Given the description of an element on the screen output the (x, y) to click on. 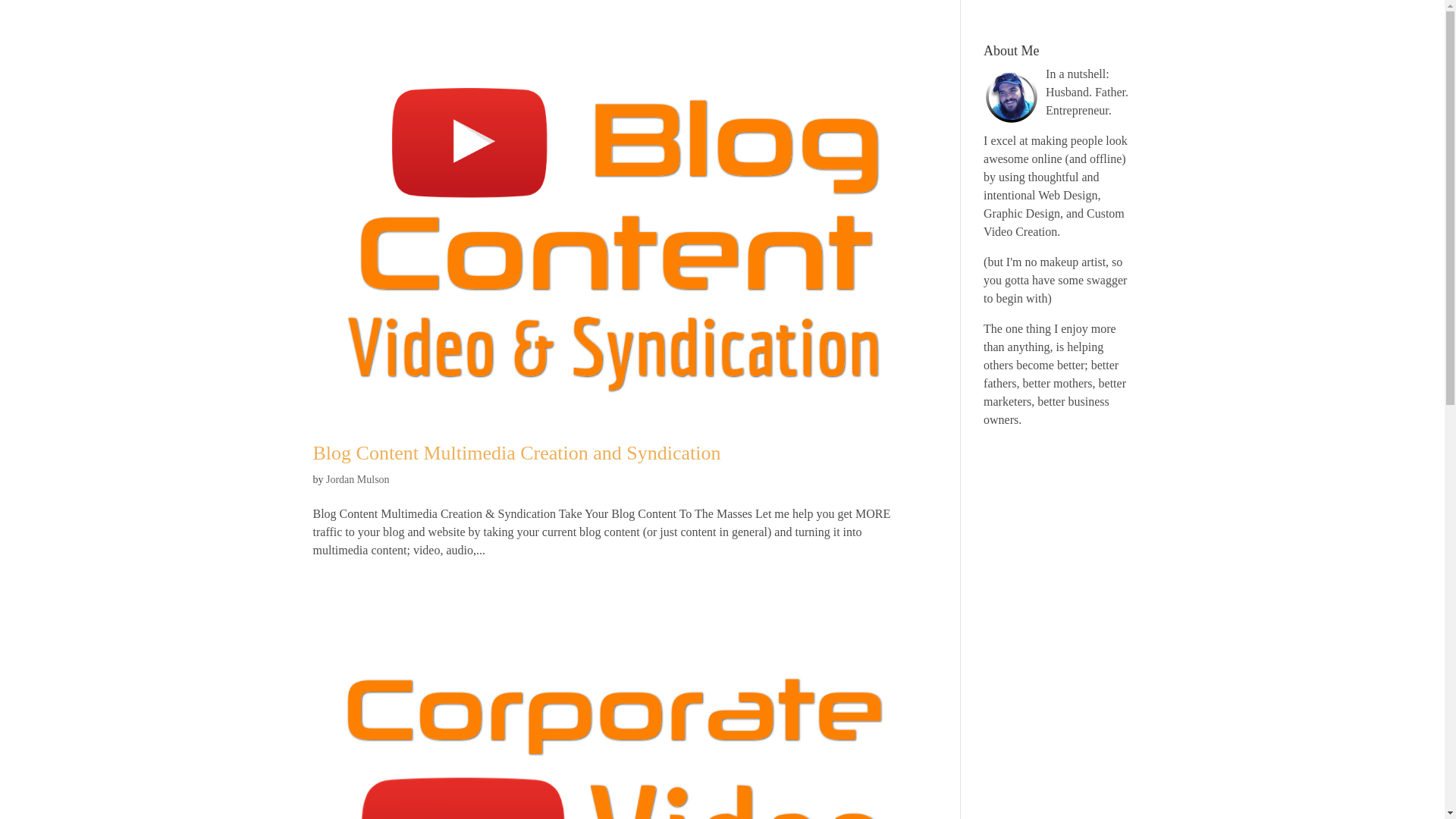
Blog Content Multimedia Creation and Syndication (516, 453)
Jordan Mulson (358, 479)
Posts by Jordan Mulson (358, 479)
